Given the description of an element on the screen output the (x, y) to click on. 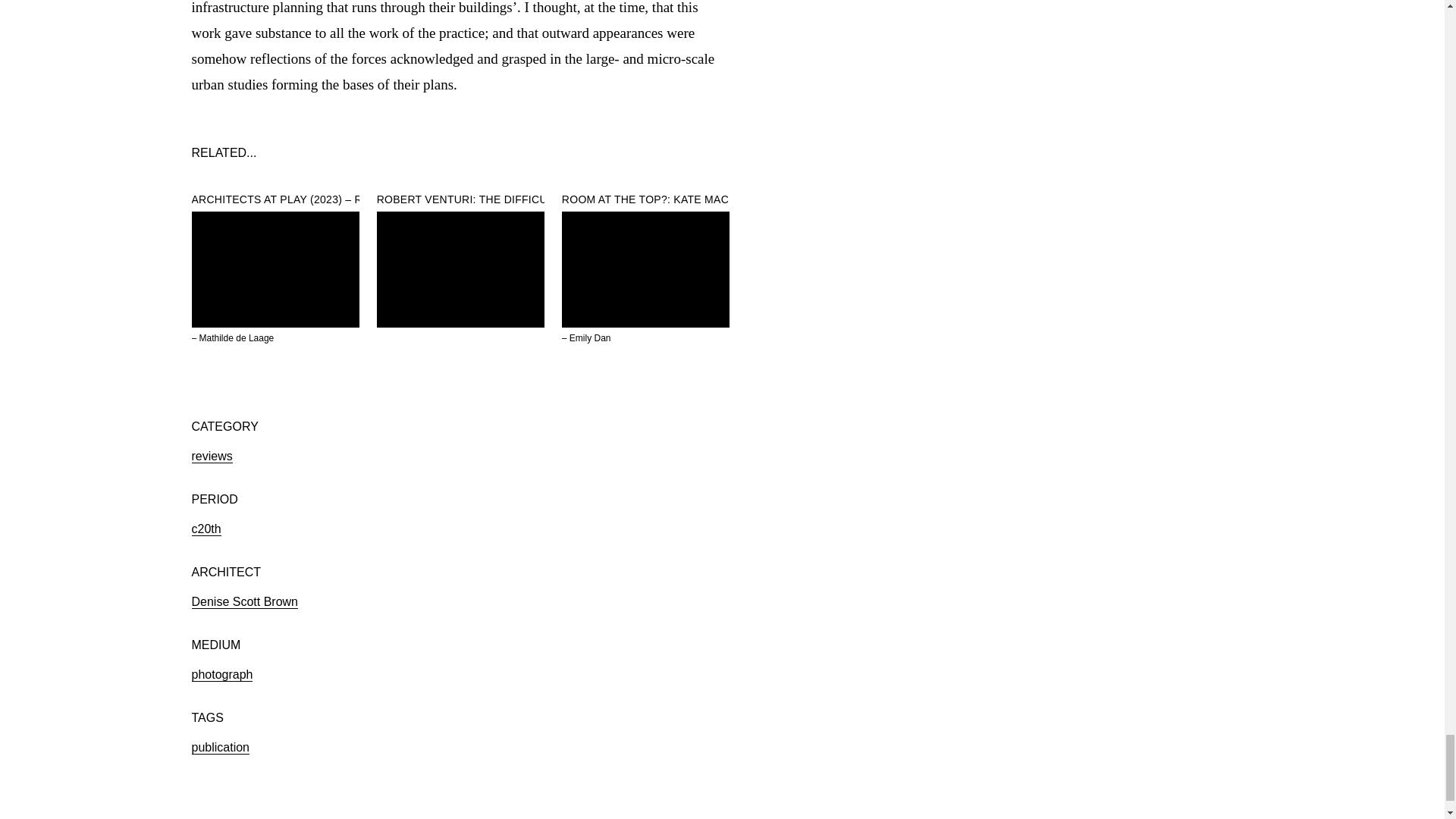
Denise Scott Brown (244, 602)
ROBERT VENTURI: THE DIFFICULT WHOLE (489, 199)
reviews (210, 456)
Mathilde de Laage (237, 337)
photograph (220, 674)
publication (219, 747)
Emily Dan (590, 337)
c20th (205, 529)
